Given the description of an element on the screen output the (x, y) to click on. 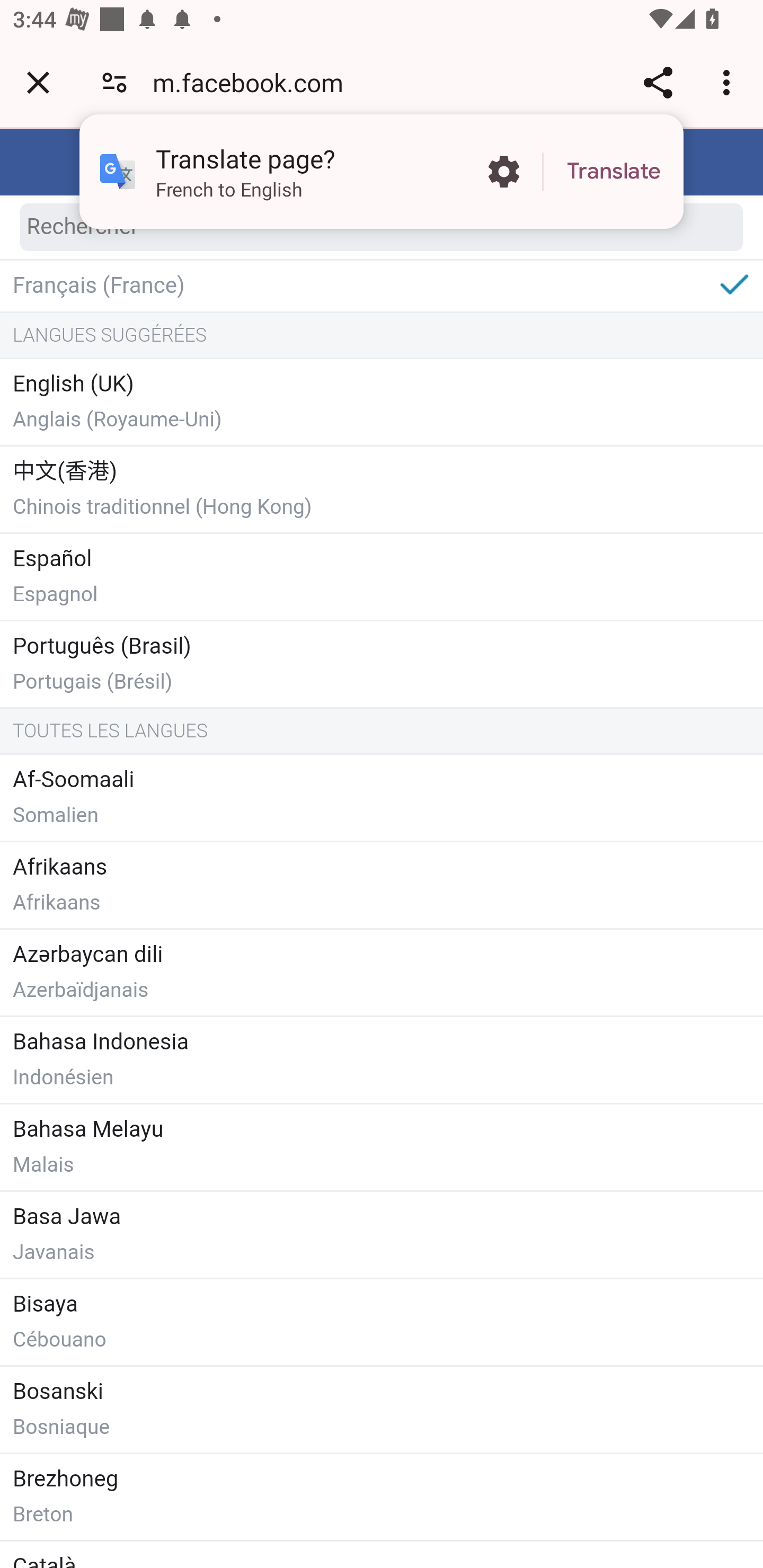
Close tab (38, 82)
Share (657, 82)
Customize and control Google Chrome (729, 82)
Connection is secure (114, 81)
m.facebook.com (254, 81)
Translate (613, 171)
More options in the Translate page? (503, 171)
